Given the description of an element on the screen output the (x, y) to click on. 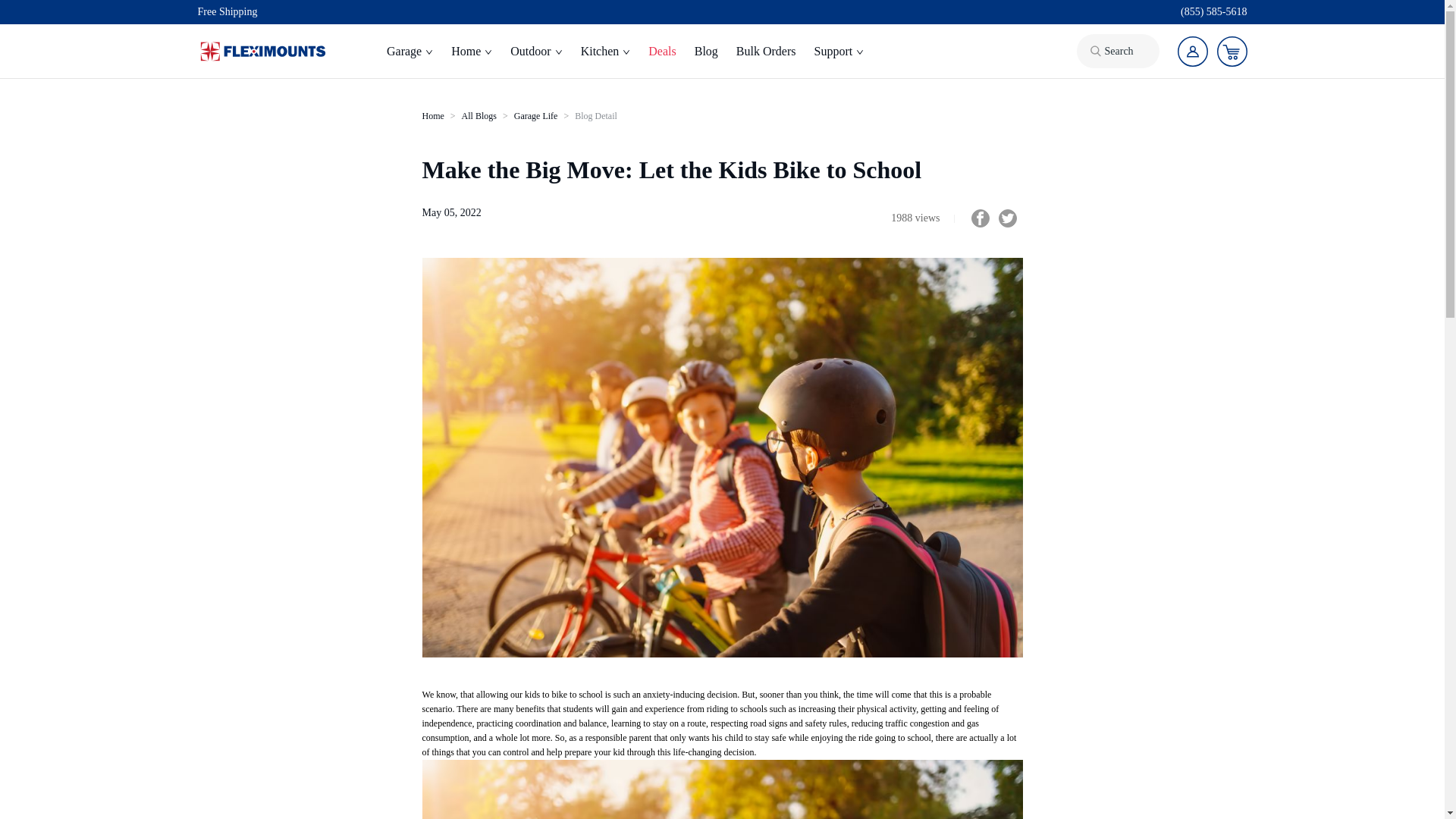
Home (471, 51)
All Blogs (478, 115)
Home (433, 115)
Blog (706, 51)
Garage (409, 51)
Deals (661, 51)
Outdoor (535, 51)
Kitchen (606, 51)
Bulk Orders (766, 51)
Garage Life (535, 115)
